Given the description of an element on the screen output the (x, y) to click on. 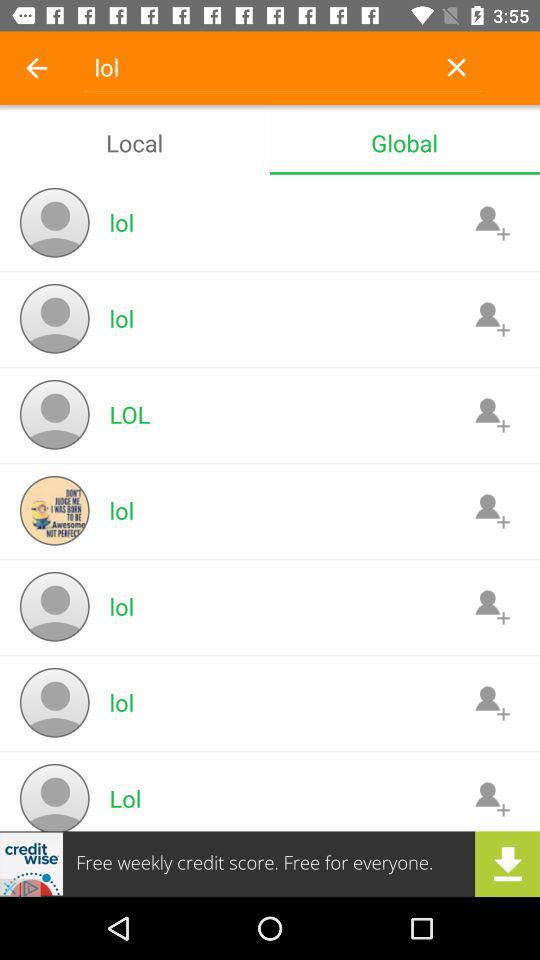
add to contacts (492, 222)
